Given the description of an element on the screen output the (x, y) to click on. 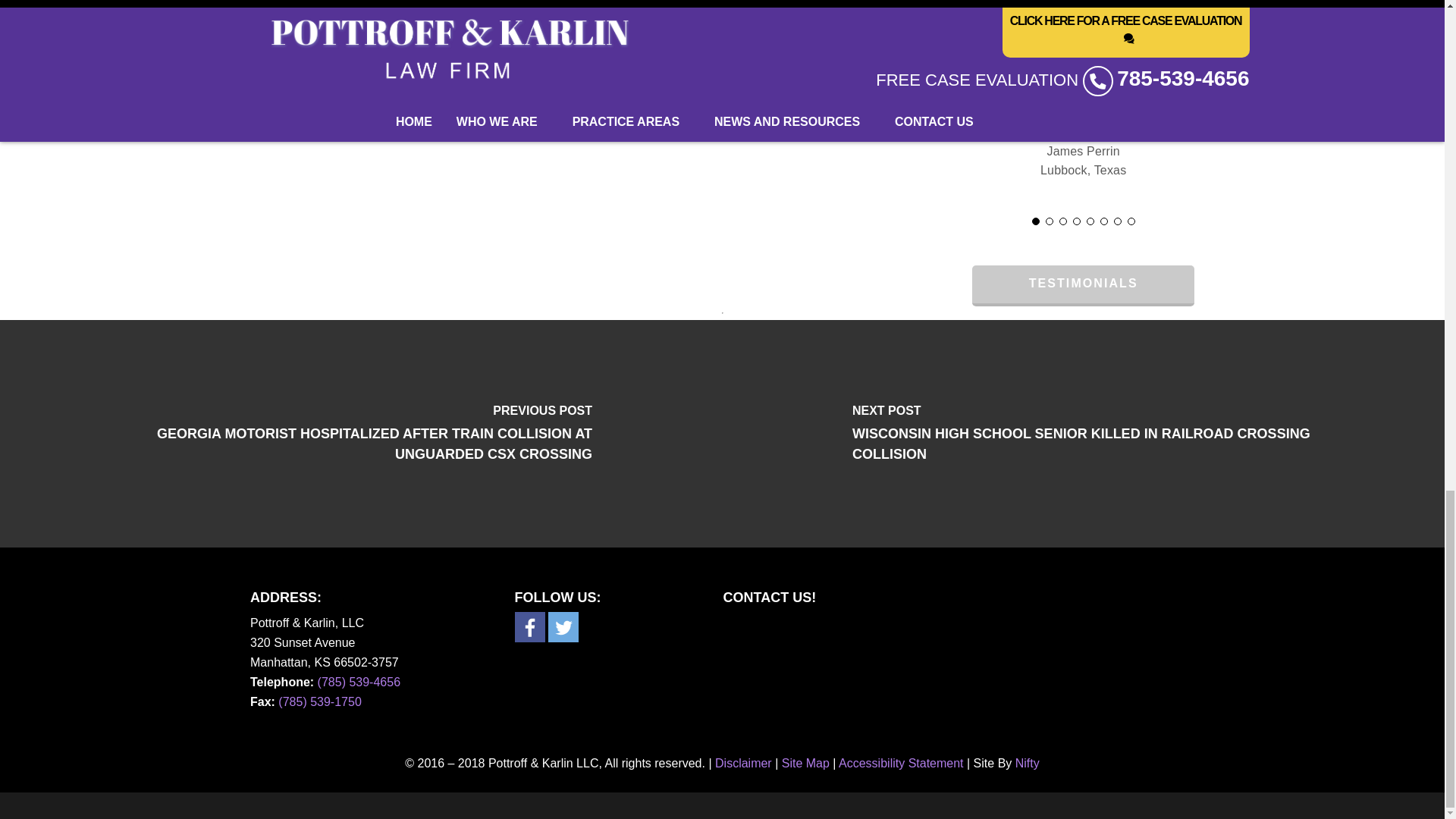
Contact form (949, 676)
